Given the description of an element on the screen output the (x, y) to click on. 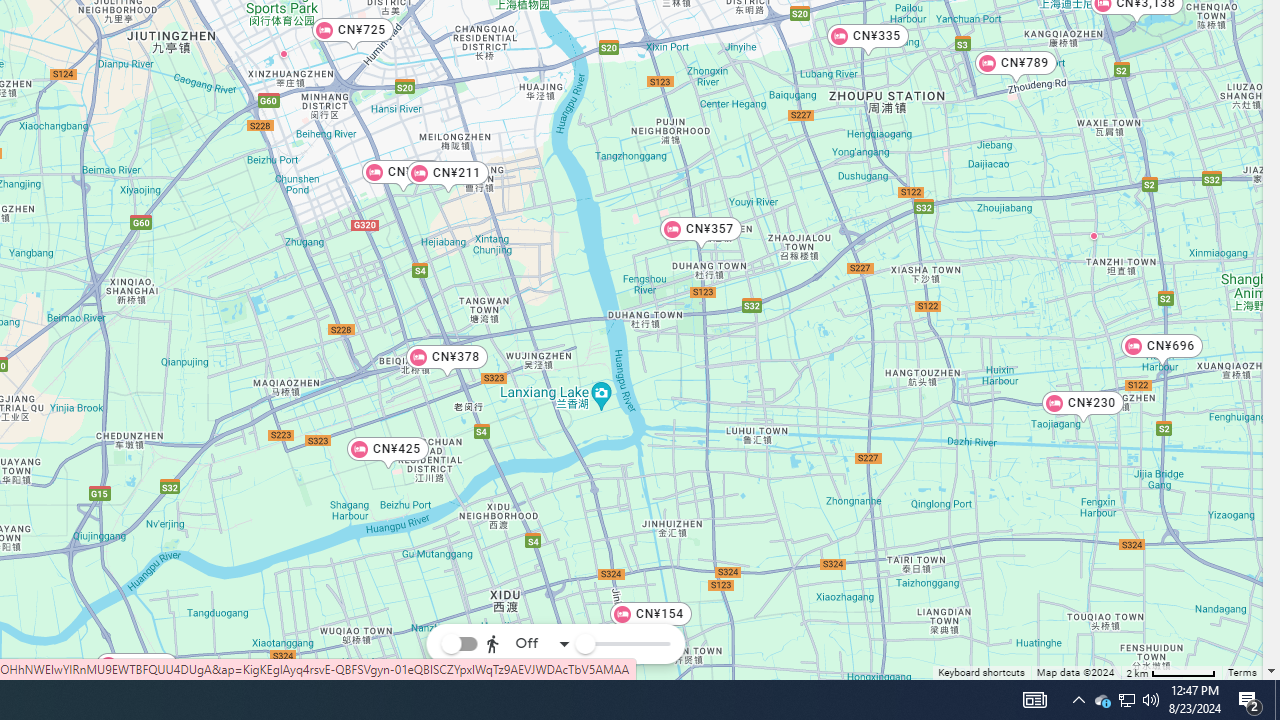
Keyboard shortcuts (981, 673)
Map Scale: 2 km per 61 pixels (1171, 672)
Reachability slider (584, 644)
